Given the description of an element on the screen output the (x, y) to click on. 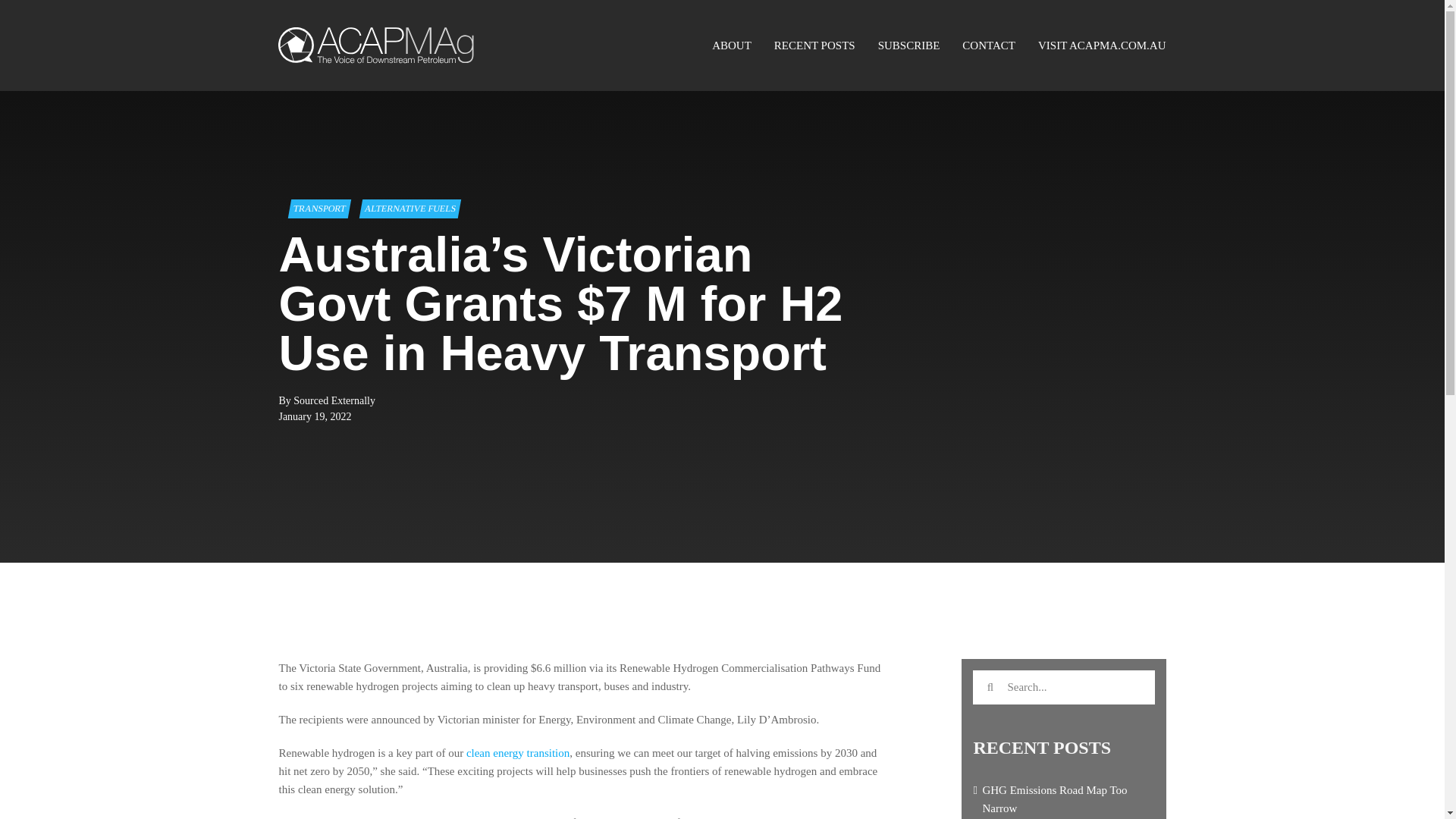
CONTACT (988, 44)
ALTERNATIVE FUELS (408, 208)
ABOUT (731, 44)
VISIT ACAPMA.COM.AU (1102, 44)
SUBSCRIBE (908, 44)
GHG Emissions Road Map Too Narrow (1053, 798)
hydrogen (547, 817)
clean energy transition (517, 752)
TRANSPORT (317, 208)
RECENT POSTS (815, 44)
